Given the description of an element on the screen output the (x, y) to click on. 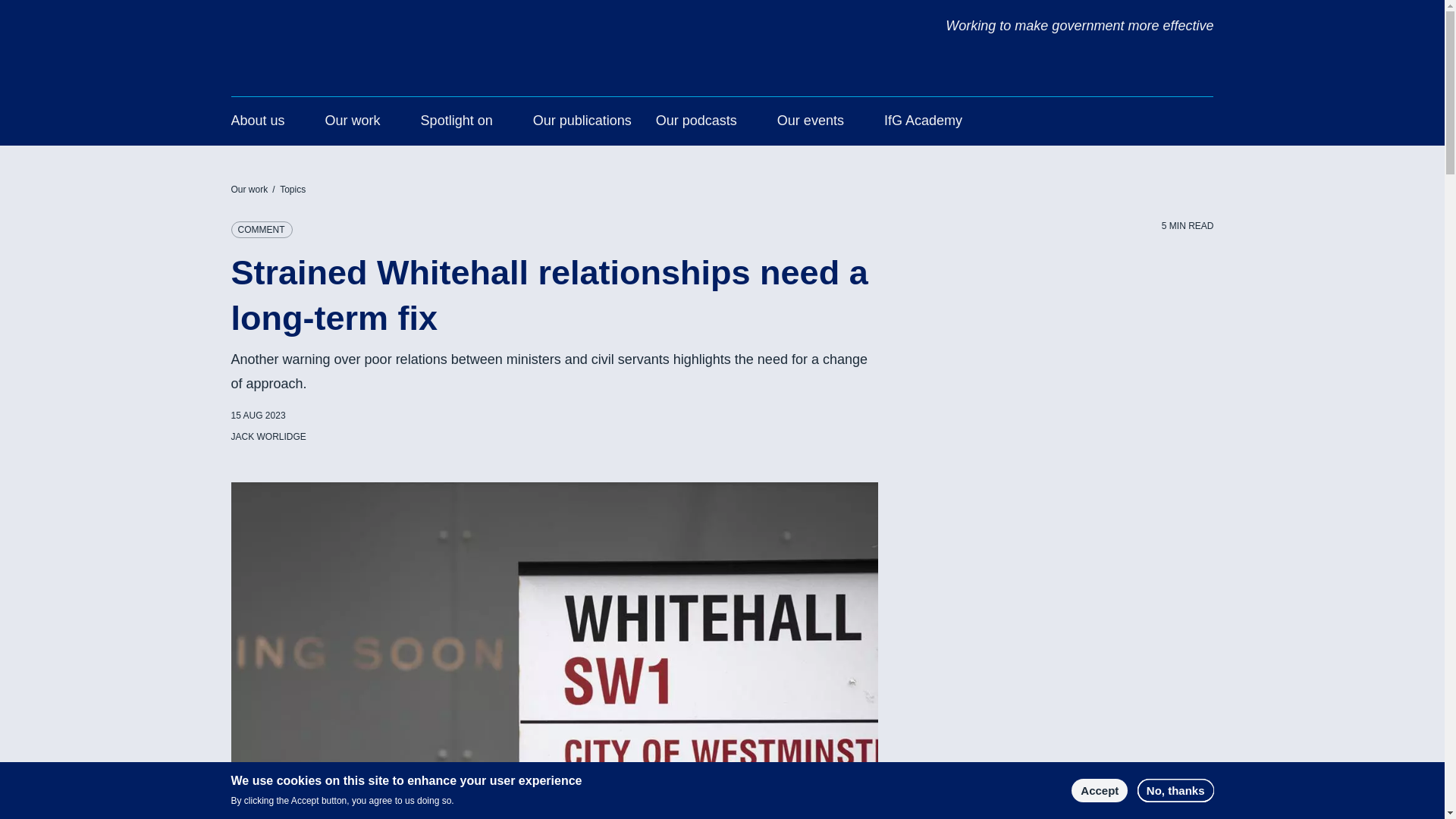
Our work (352, 122)
About us (256, 122)
Return to the homepage (321, 29)
